Given the description of an element on the screen output the (x, y) to click on. 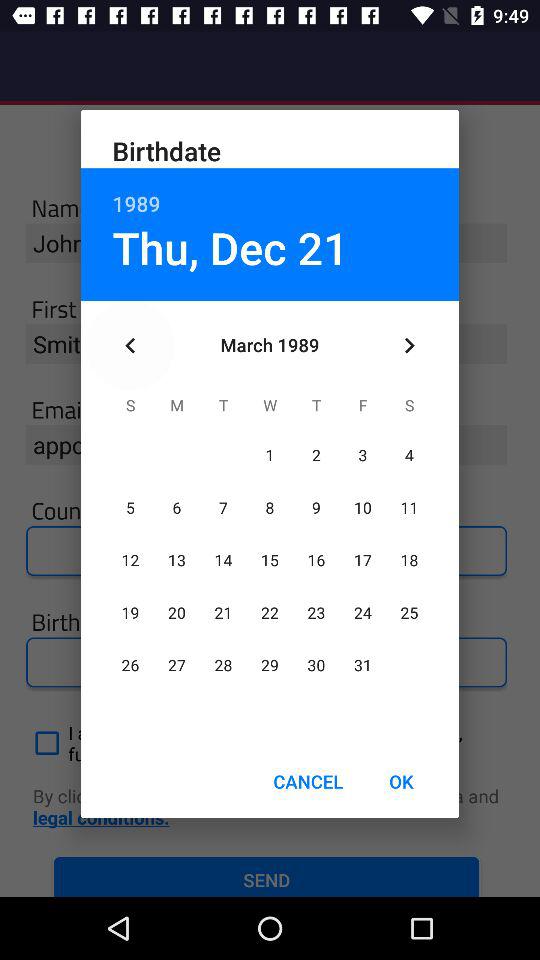
select ok at the bottom right corner (401, 781)
